Given the description of an element on the screen output the (x, y) to click on. 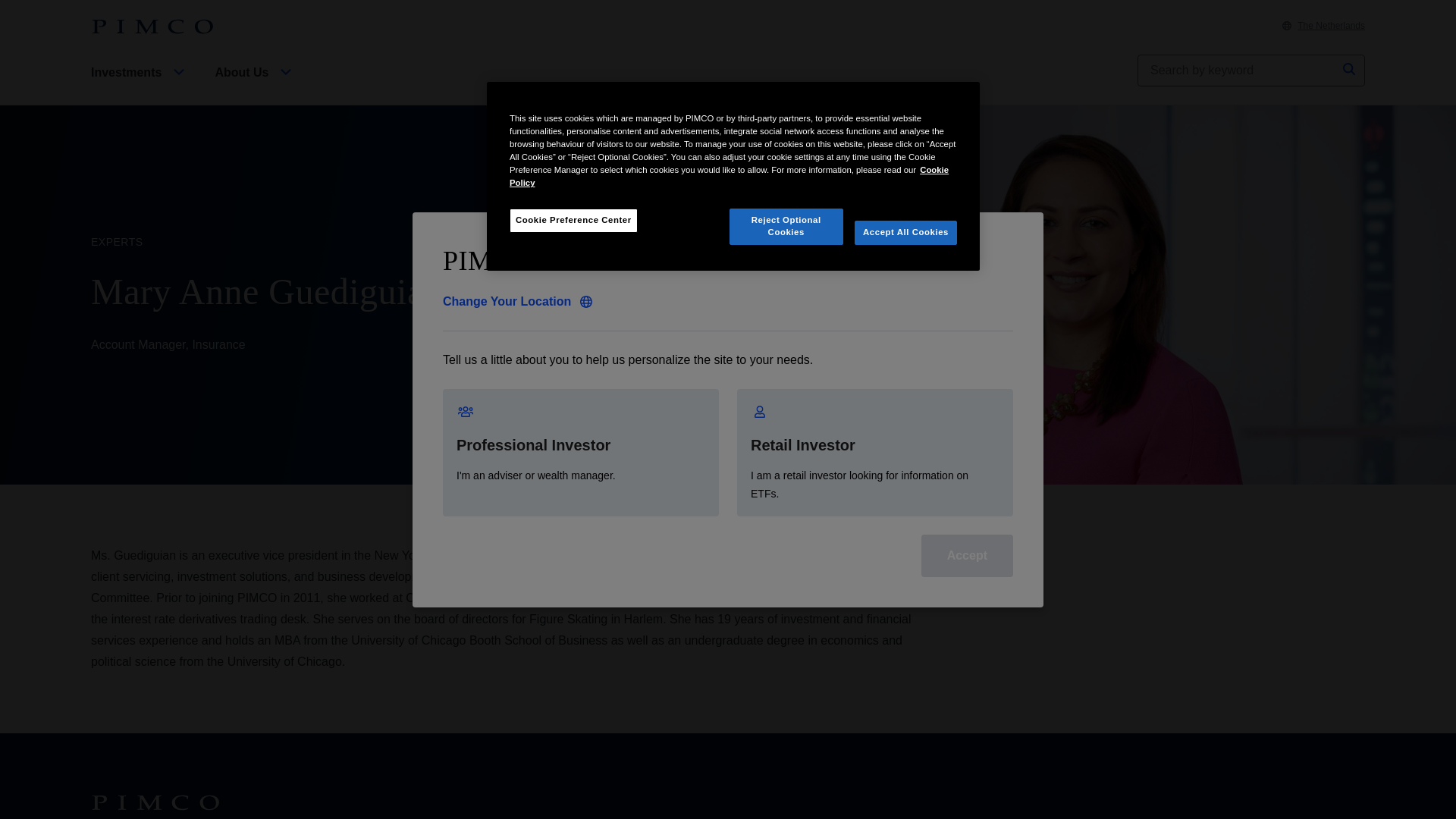
The Netherlands (1323, 25)
About Us (255, 84)
PIMCO Home (152, 27)
Investments (140, 84)
Insert a query. Press enter to send (1237, 70)
